Given the description of an element on the screen output the (x, y) to click on. 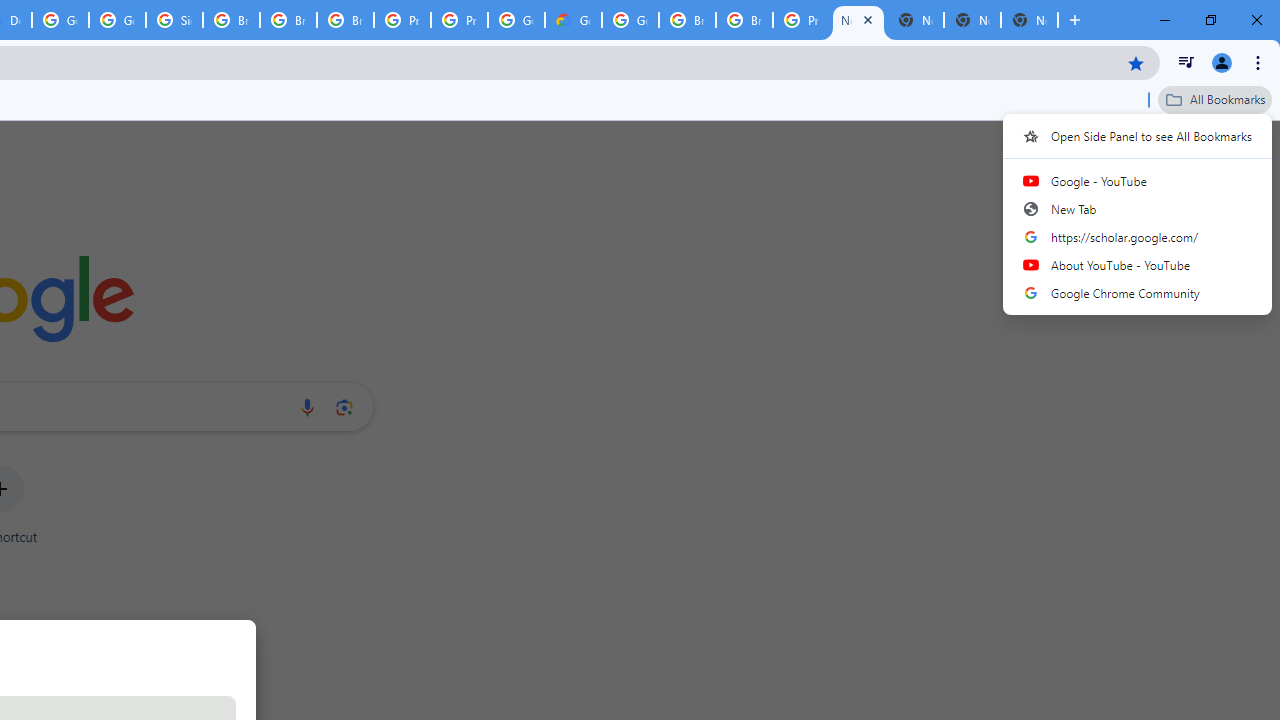
Google Chrome Community (1137, 292)
